Given the description of an element on the screen output the (x, y) to click on. 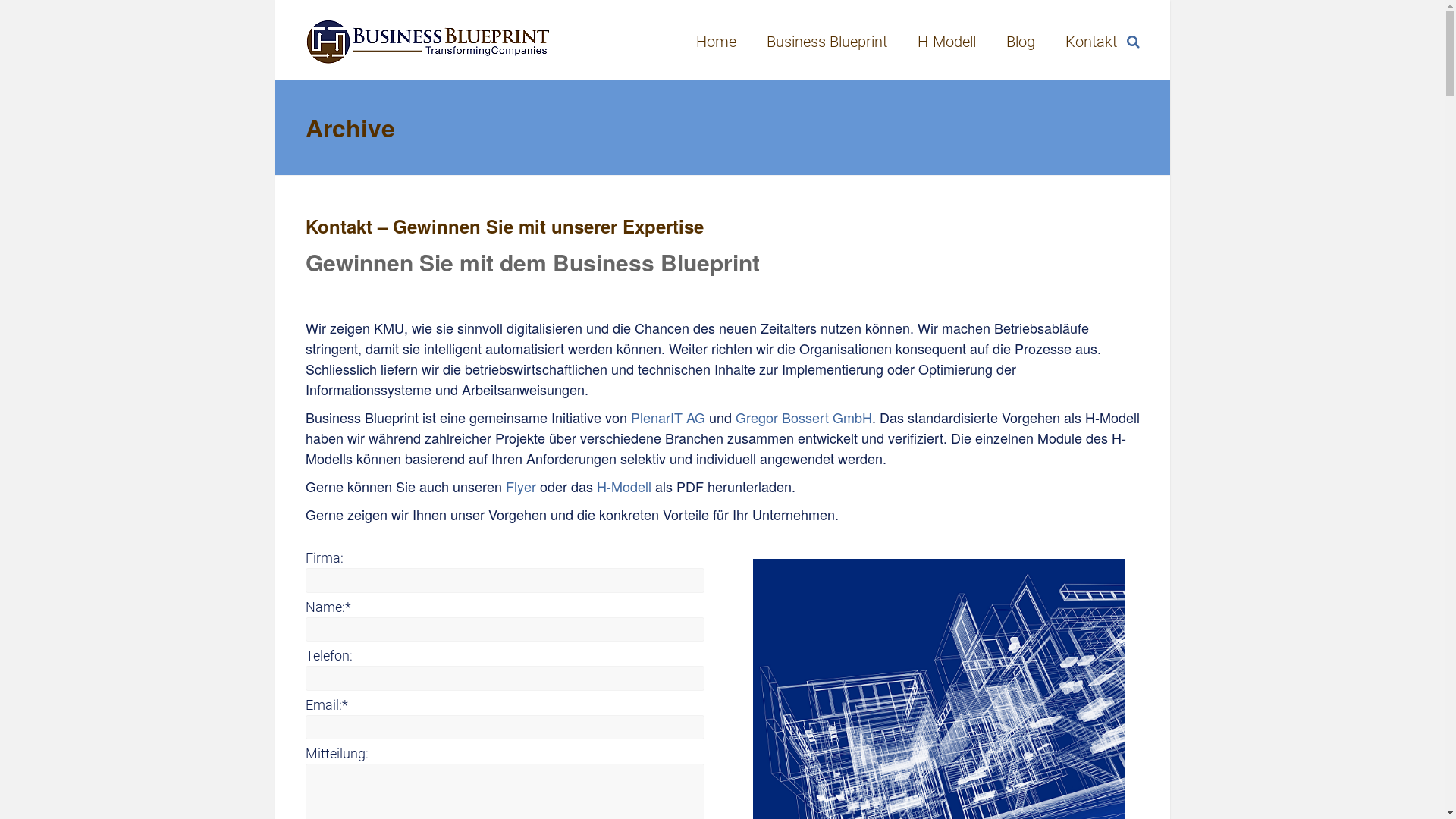
Blog Element type: text (1019, 41)
Gregor Bossert GmbH Element type: text (803, 416)
H-Modell Element type: text (946, 41)
Business Blueprint Element type: hover (426, 29)
Business Blueprint Element type: text (825, 41)
Kontakt Element type: text (1090, 41)
PlenarIT AG Element type: text (669, 416)
Flyer Element type: text (520, 485)
Home Element type: text (716, 41)
H-Modell Element type: text (623, 485)
